Given the description of an element on the screen output the (x, y) to click on. 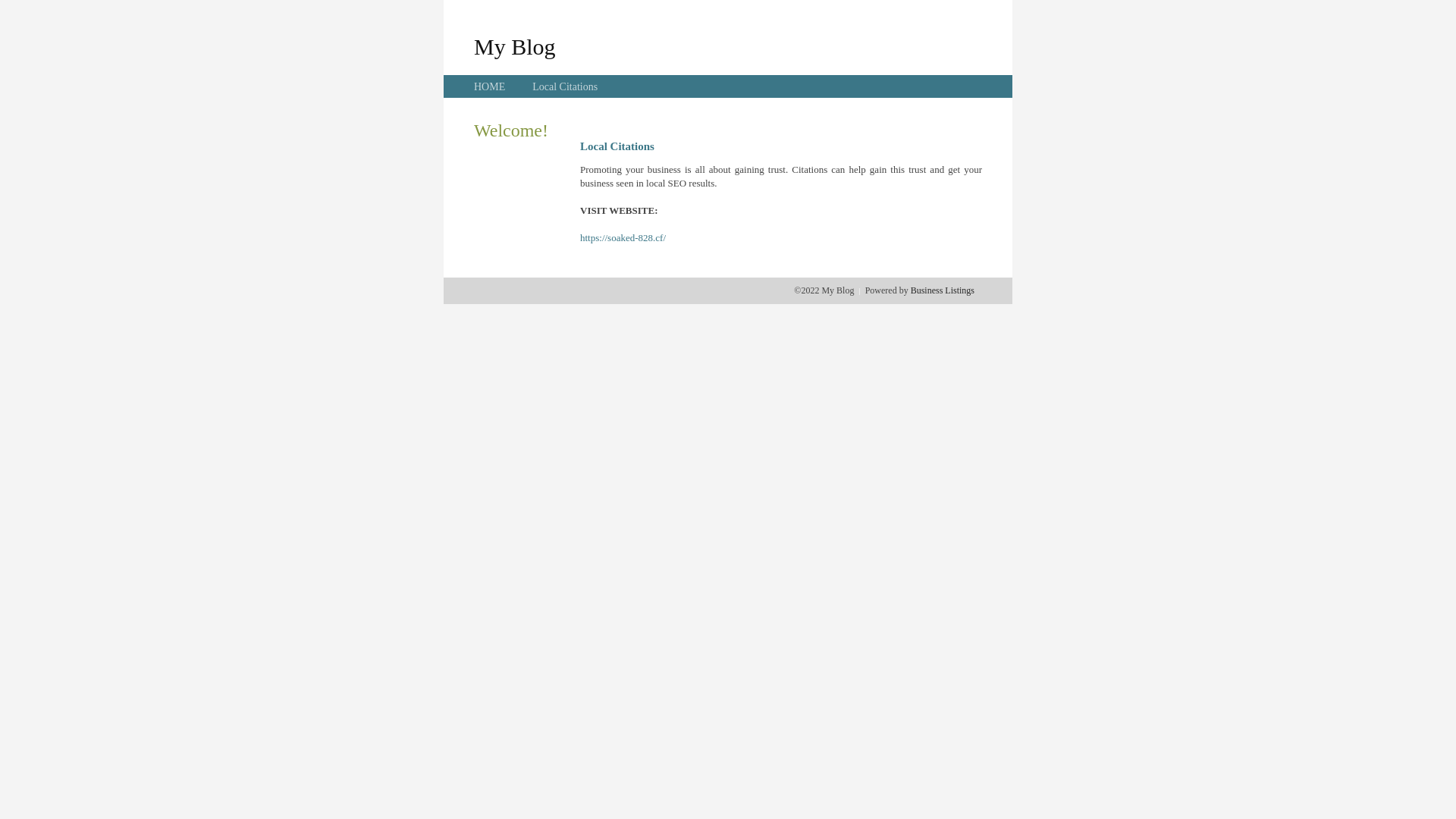
Business Listings Element type: text (942, 290)
My Blog Element type: text (514, 46)
HOME Element type: text (489, 86)
Local Citations Element type: text (564, 86)
https://soaked-828.cf/ Element type: text (622, 237)
